Given the description of an element on the screen output the (x, y) to click on. 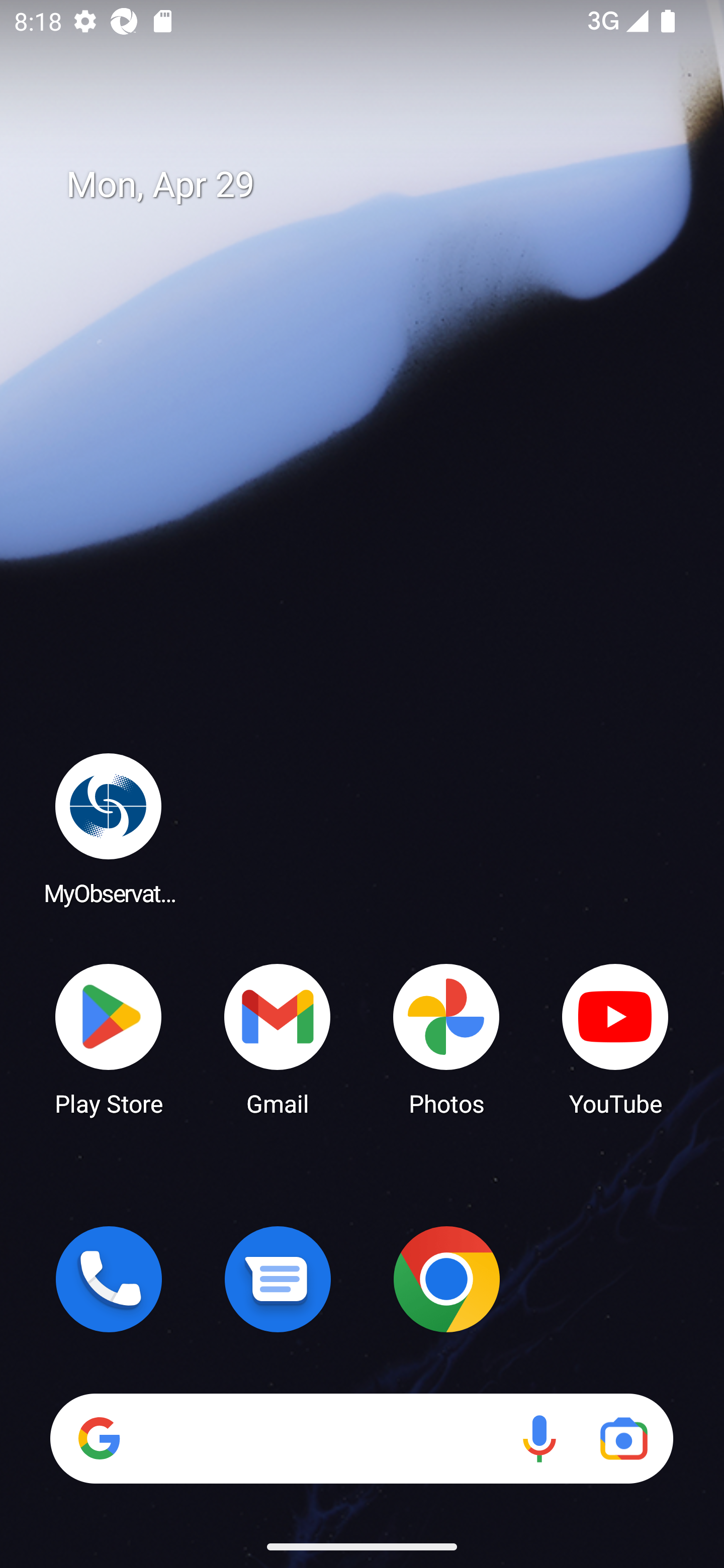
Mon, Apr 29 (375, 184)
MyObservatory (108, 828)
Play Store (108, 1038)
Gmail (277, 1038)
Photos (445, 1038)
YouTube (615, 1038)
Phone (108, 1279)
Messages (277, 1279)
Chrome (446, 1279)
Voice search (539, 1438)
Google Lens (623, 1438)
